Given the description of an element on the screen output the (x, y) to click on. 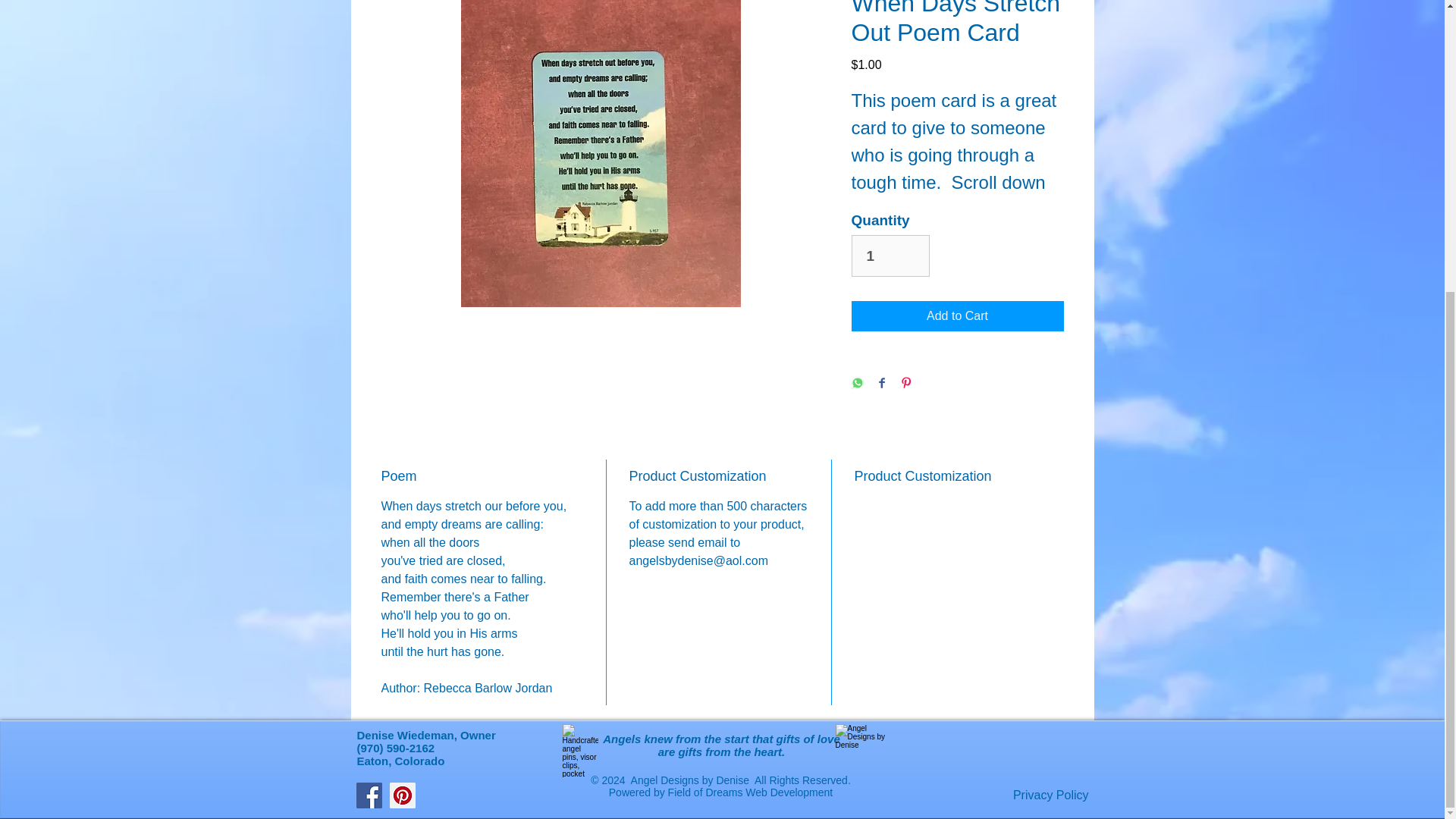
Add to Cart (956, 316)
1 (890, 255)
